Given the description of an element on the screen output the (x, y) to click on. 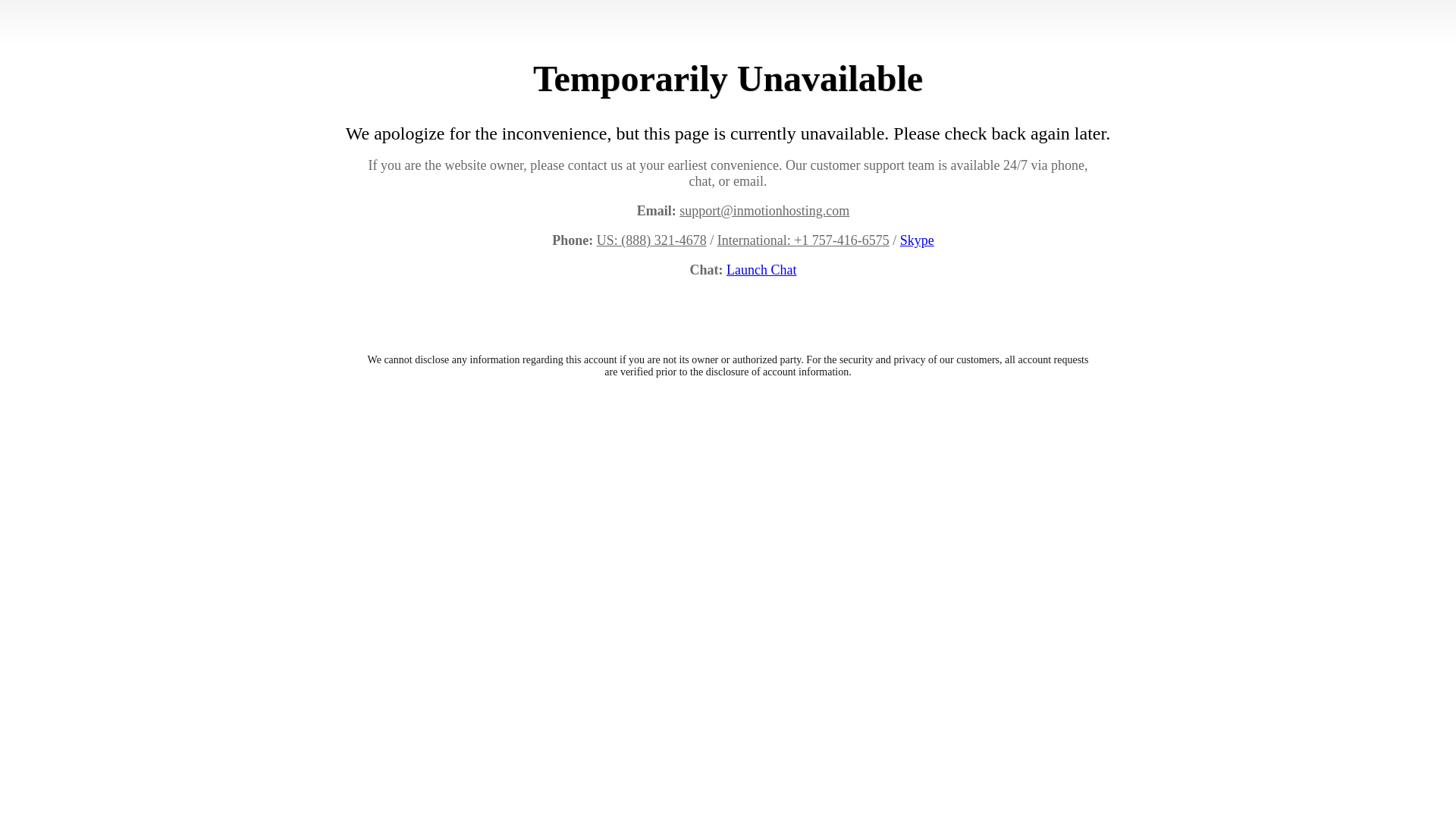
Skype (916, 240)
Launch Chat (761, 269)
